Given the description of an element on the screen output the (x, y) to click on. 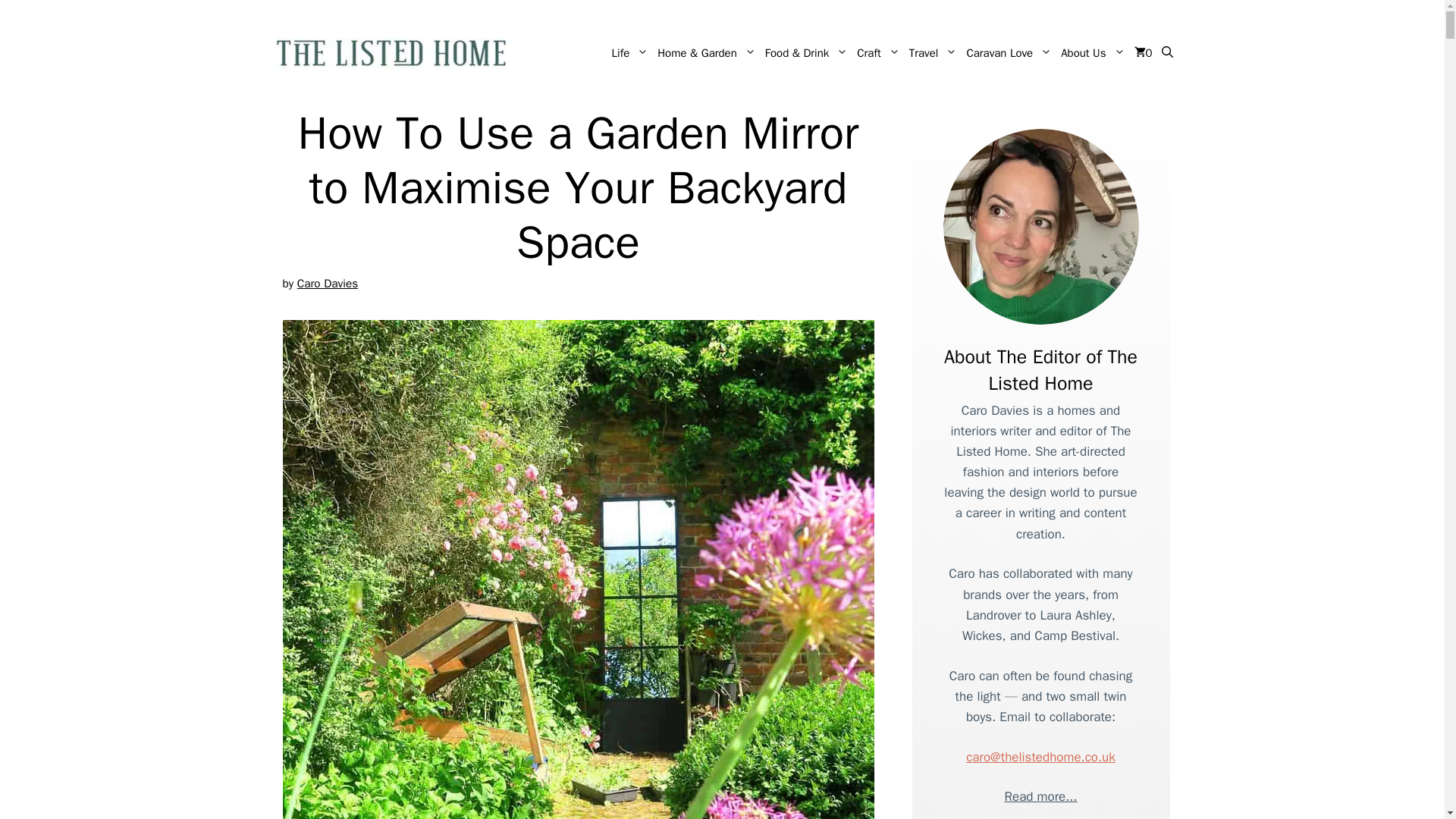
Life (630, 53)
Travel (933, 53)
The Listed Home (407, 53)
Craft (877, 53)
Caravan Love (1008, 53)
View all posts by Caro Davies (327, 283)
